Given the description of an element on the screen output the (x, y) to click on. 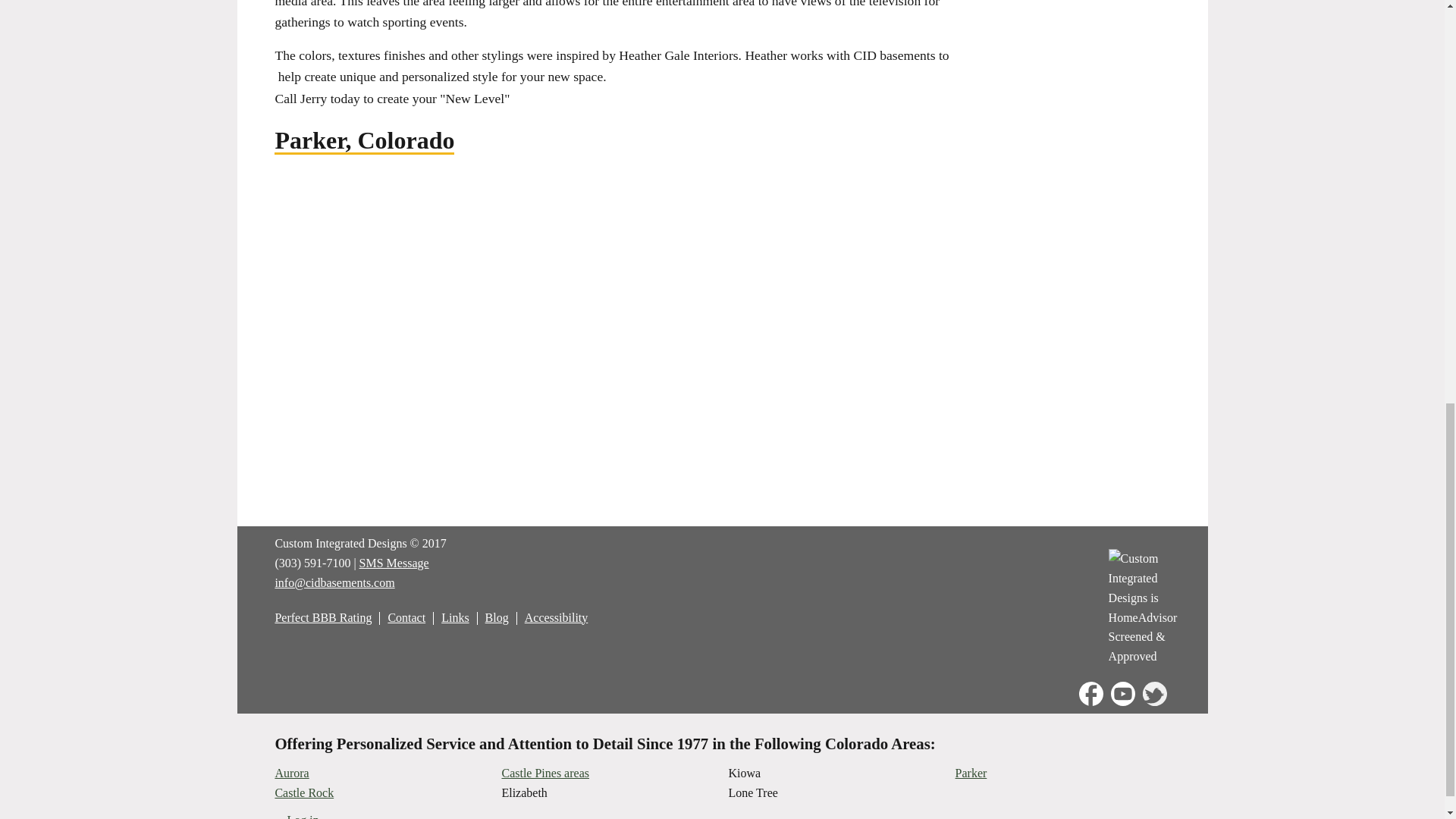
Blog (496, 617)
Parker (971, 772)
Contact (406, 617)
Castle Rock (304, 792)
SMS Message (394, 562)
Accessibility (556, 617)
Castle Pines areas (544, 772)
Aurora (291, 772)
Log in (302, 816)
Links (454, 617)
Perfect BBB Rating (323, 617)
